Given the description of an element on the screen output the (x, y) to click on. 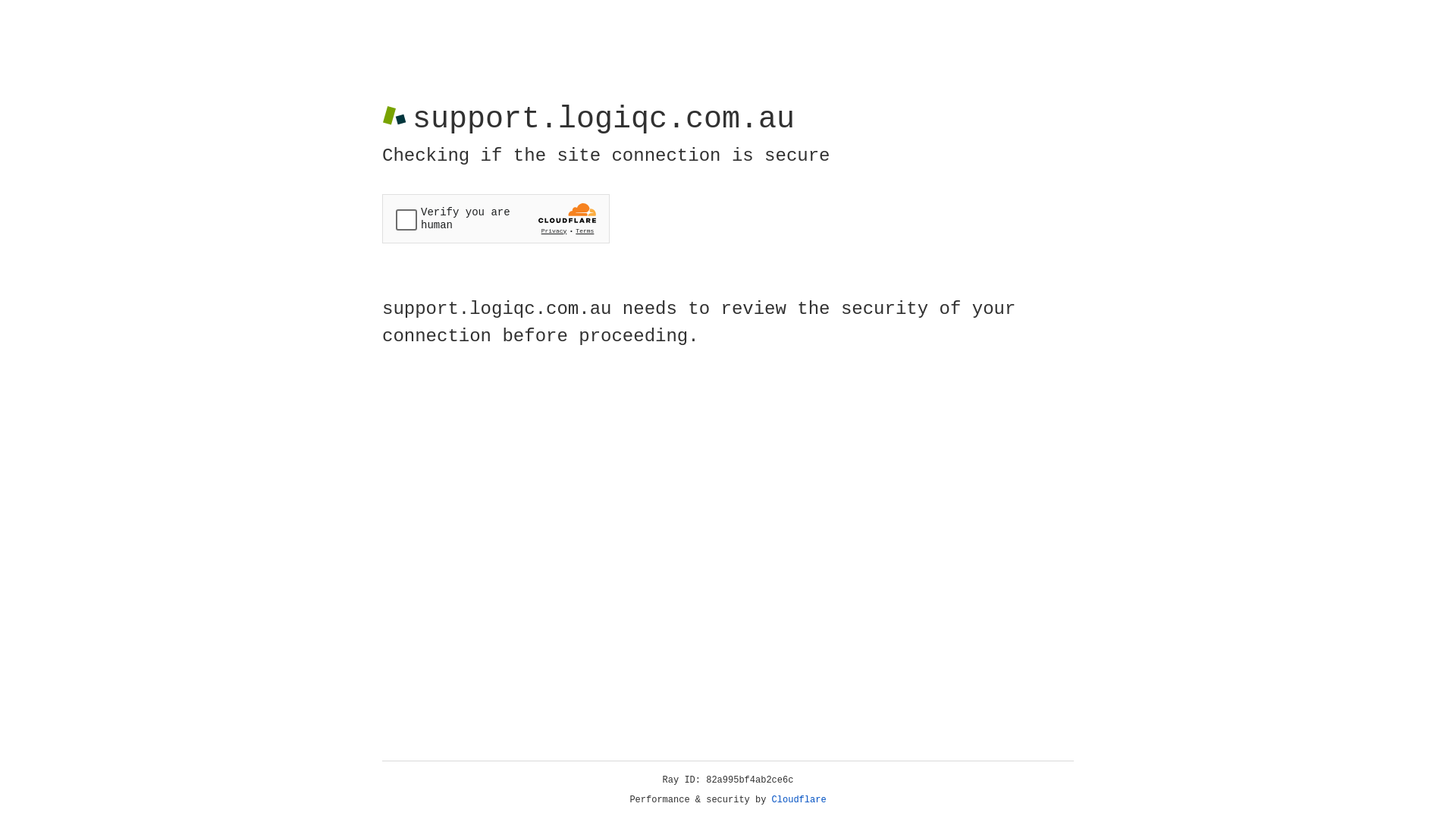
Cloudflare Element type: text (798, 799)
Widget containing a Cloudflare security challenge Element type: hover (495, 218)
